Given the description of an element on the screen output the (x, y) to click on. 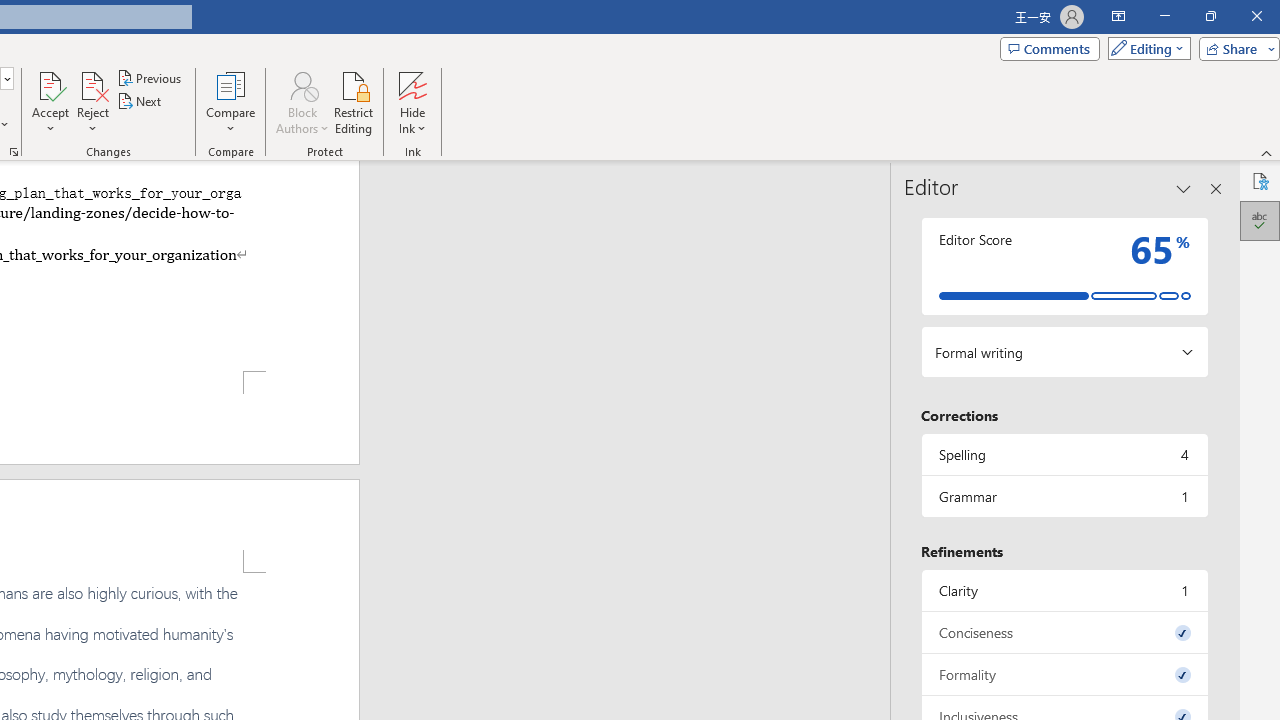
Grammar, 1 issue. Press space or enter to review items. (1064, 495)
Previous (150, 78)
Reject and Move to Next (92, 84)
Accept and Move to Next (50, 84)
Hide Ink (412, 84)
Compare (230, 102)
Spelling, 4 issues. Press space or enter to review items. (1064, 454)
Block Authors (302, 84)
